Given the description of an element on the screen output the (x, y) to click on. 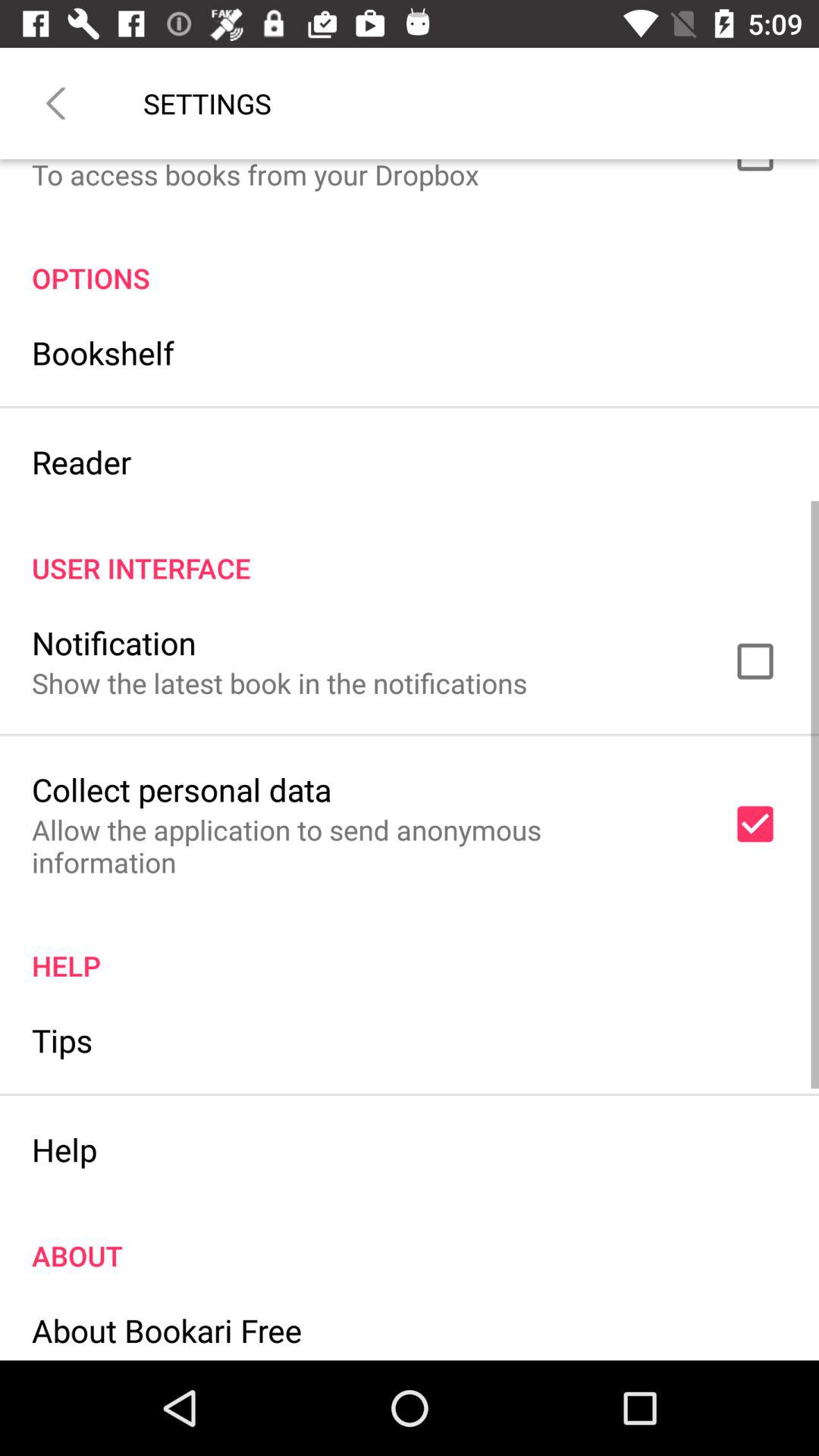
jump to the to access books (254, 176)
